Given the description of an element on the screen output the (x, y) to click on. 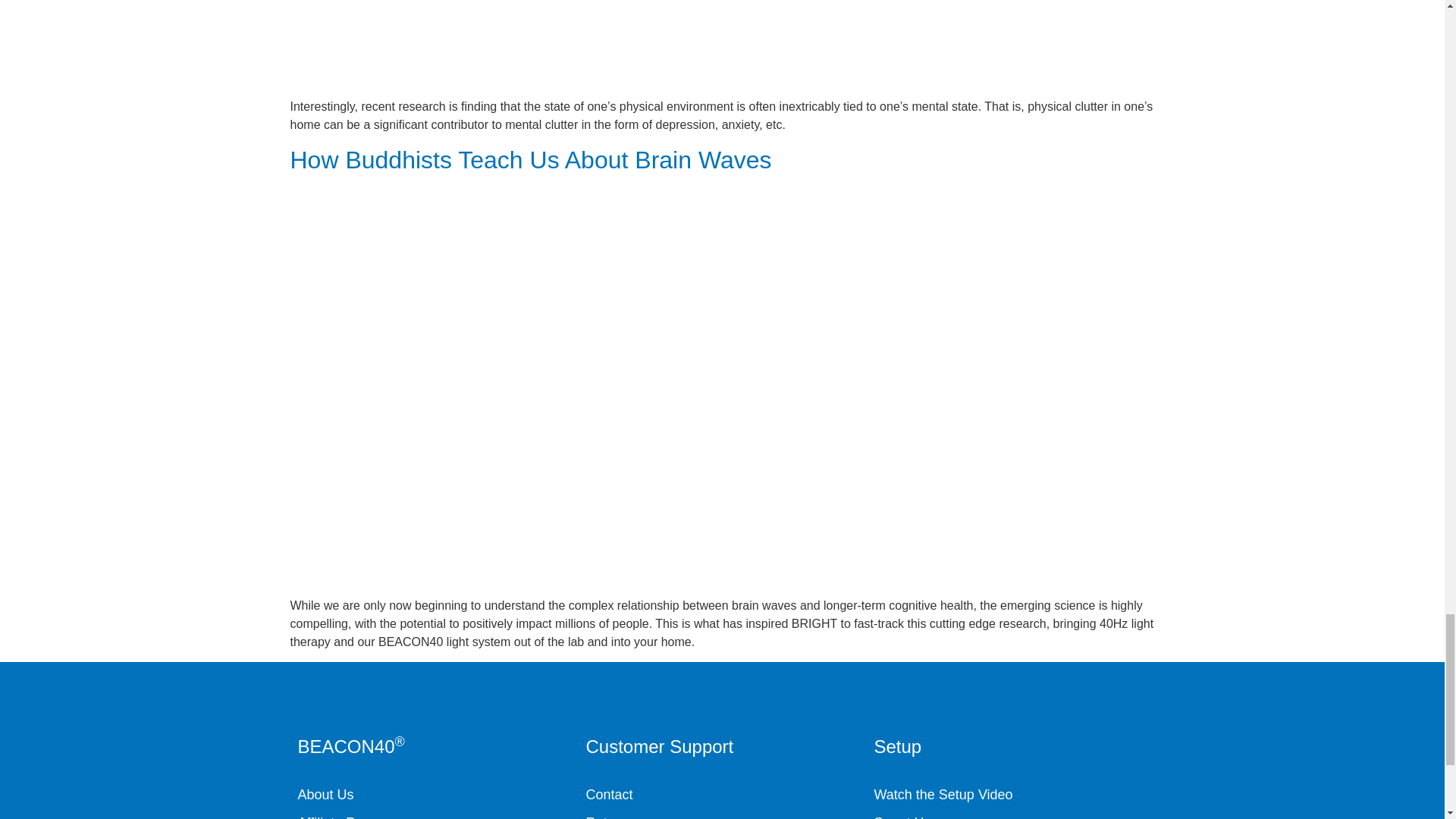
Contact (722, 794)
Returns (722, 816)
How Buddhists Teach Us About Brain Waves (530, 159)
Affiliate Program (433, 816)
About Us (433, 794)
